Given the description of an element on the screen output the (x, y) to click on. 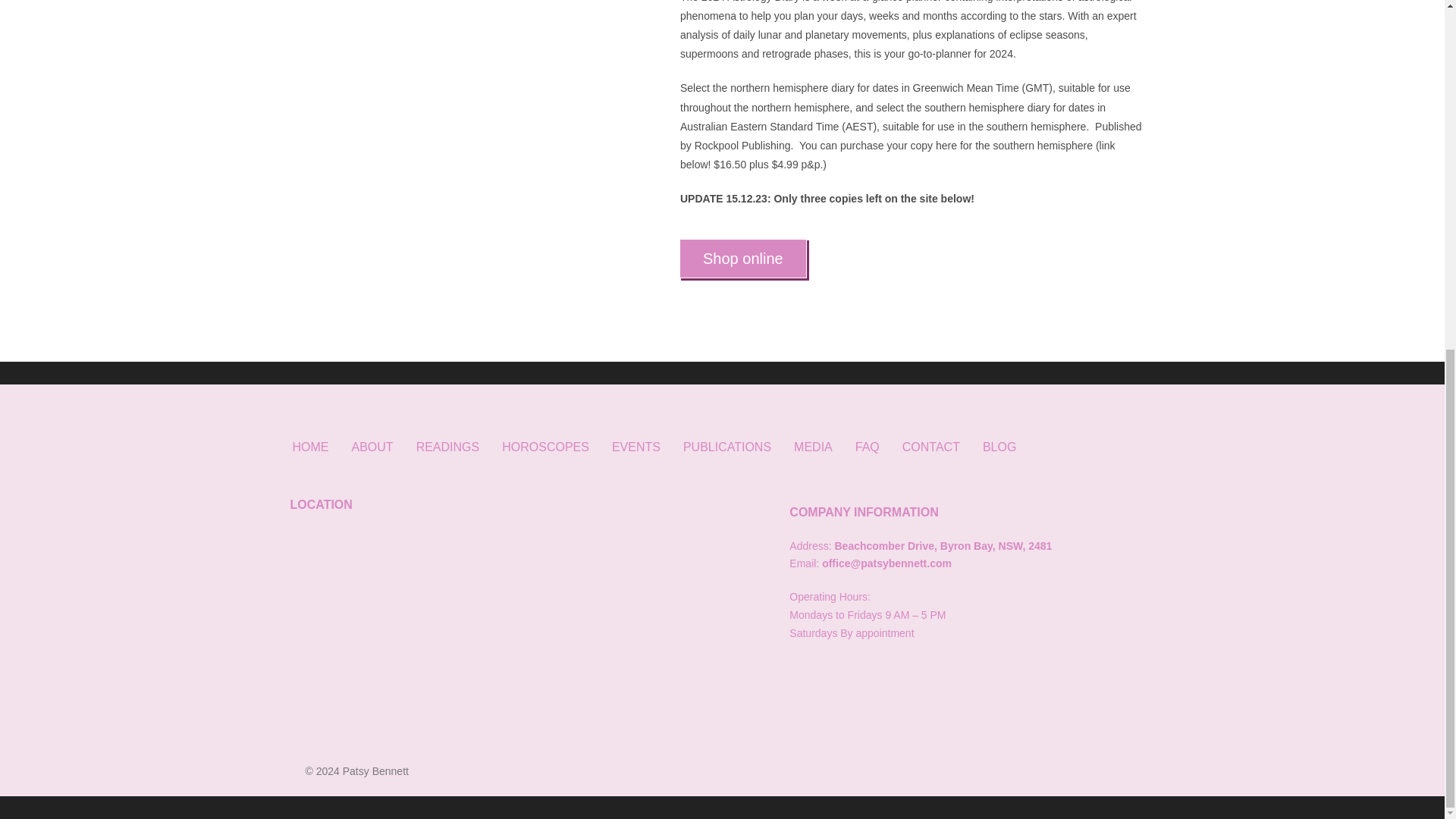
Find Us On Facebook (801, 673)
Beachcomber Drive, Byron Bay (523, 615)
Follow Us On Instagram (828, 673)
